Given the description of an element on the screen output the (x, y) to click on. 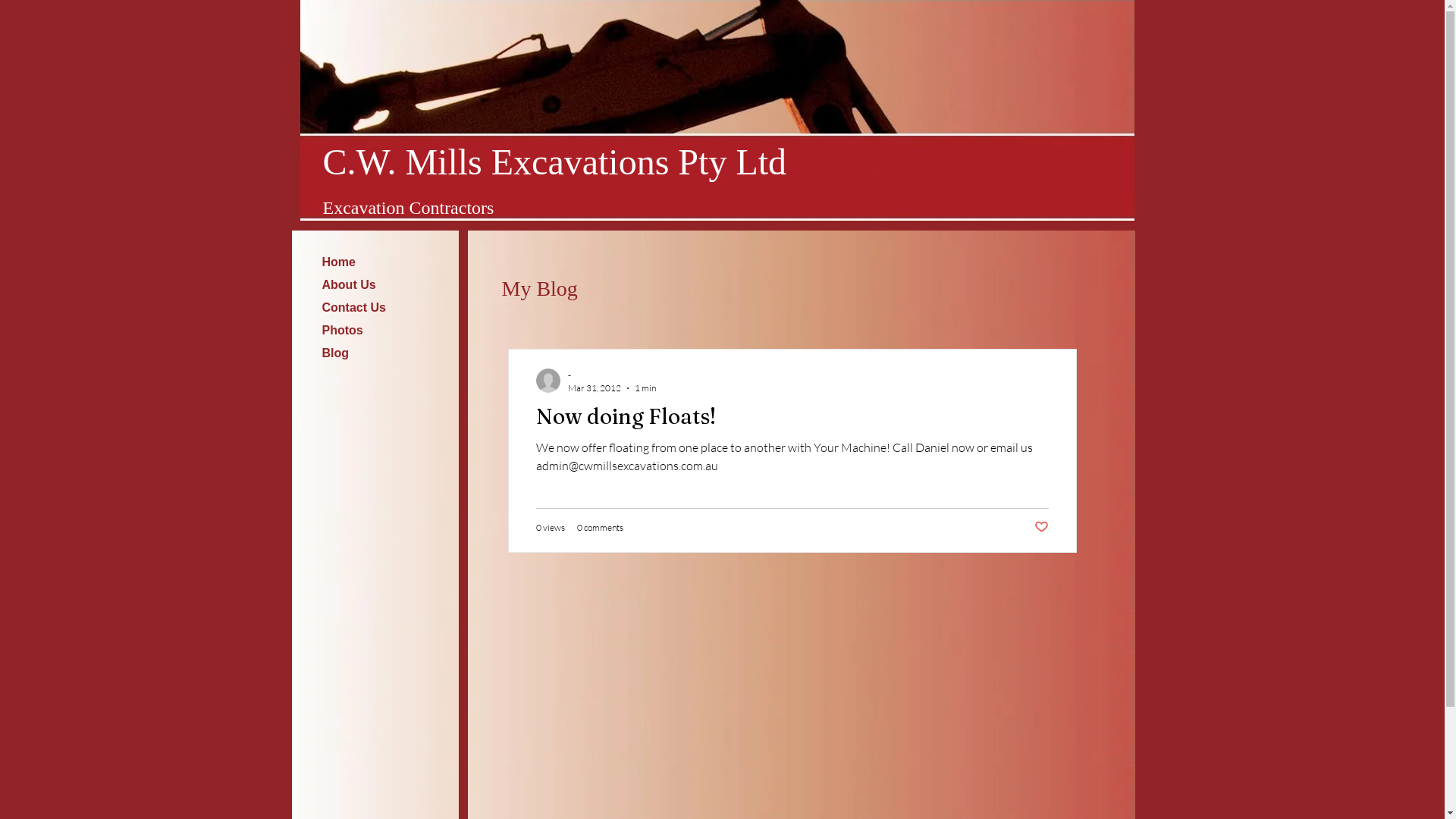
Post not marked as liked Element type: text (1041, 527)
About Us Element type: text (347, 284)
Now doing Floats! Element type: text (791, 420)
Contact Us Element type: text (352, 307)
Photos Element type: text (341, 330)
0 comments Element type: text (599, 527)
Blog Element type: text (334, 352)
Home Element type: text (337, 261)
